Given the description of an element on the screen output the (x, y) to click on. 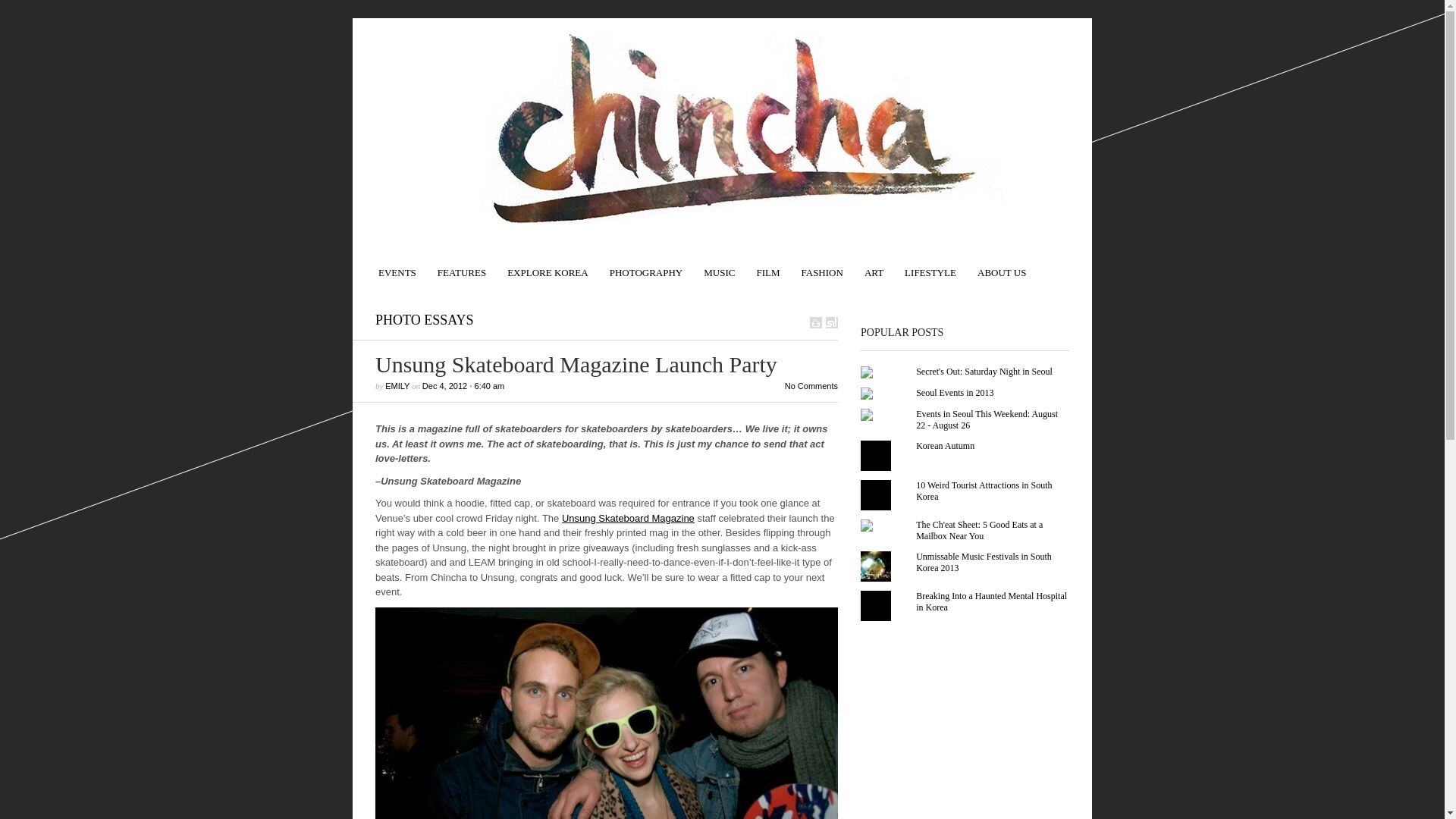
Bookmark on Del.icio.us (815, 322)
FILM (767, 266)
EXPLORE KOREA (547, 266)
Posts by Emily (397, 385)
MUSIC (718, 266)
Korean Music (718, 266)
PHOTOGRAPHY (646, 266)
FASHION (821, 266)
Our Photography (646, 266)
FEATURES (461, 266)
